Given the description of an element on the screen output the (x, y) to click on. 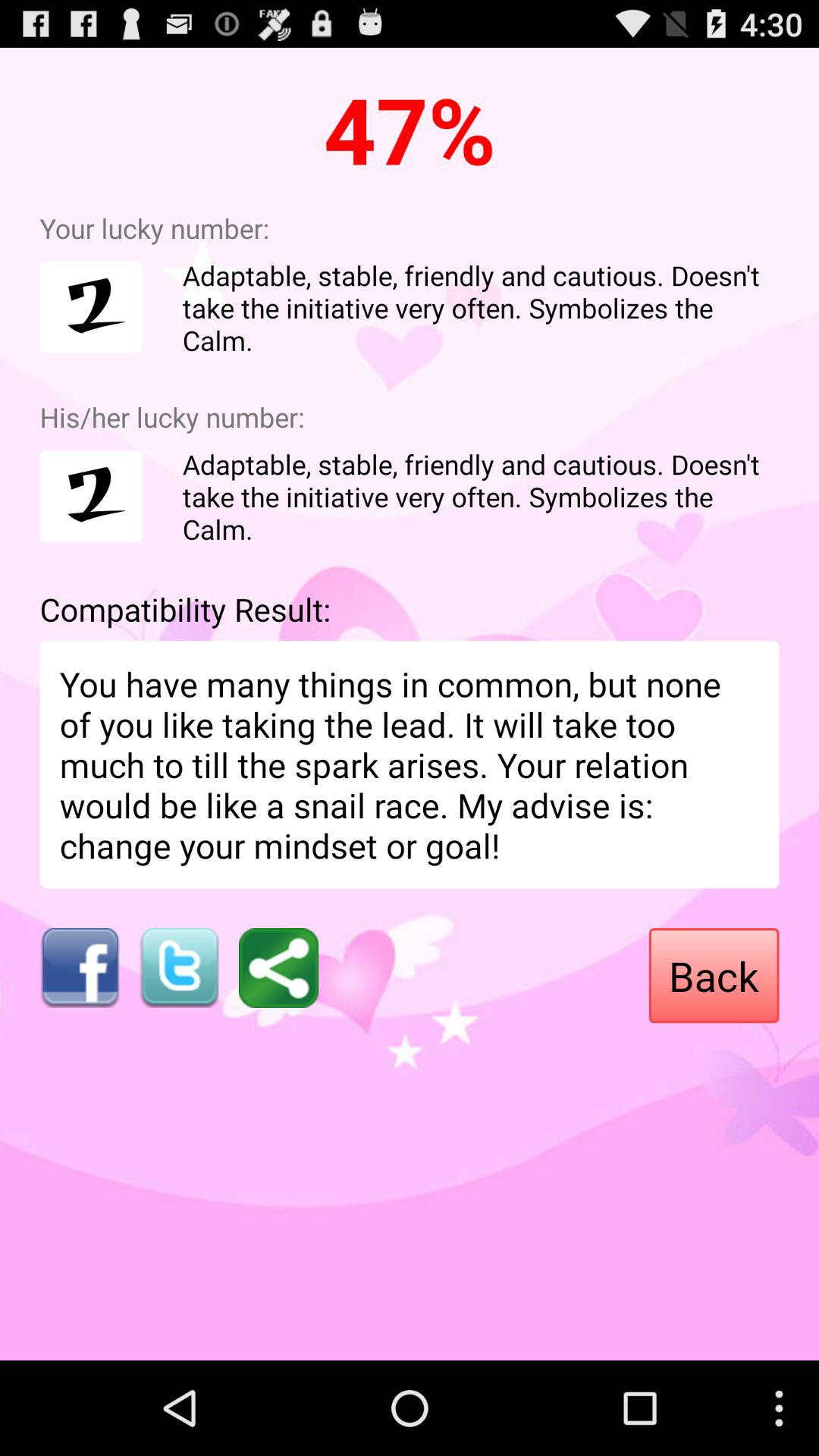
open the item below the you have many item (178, 967)
